Given the description of an element on the screen output the (x, y) to click on. 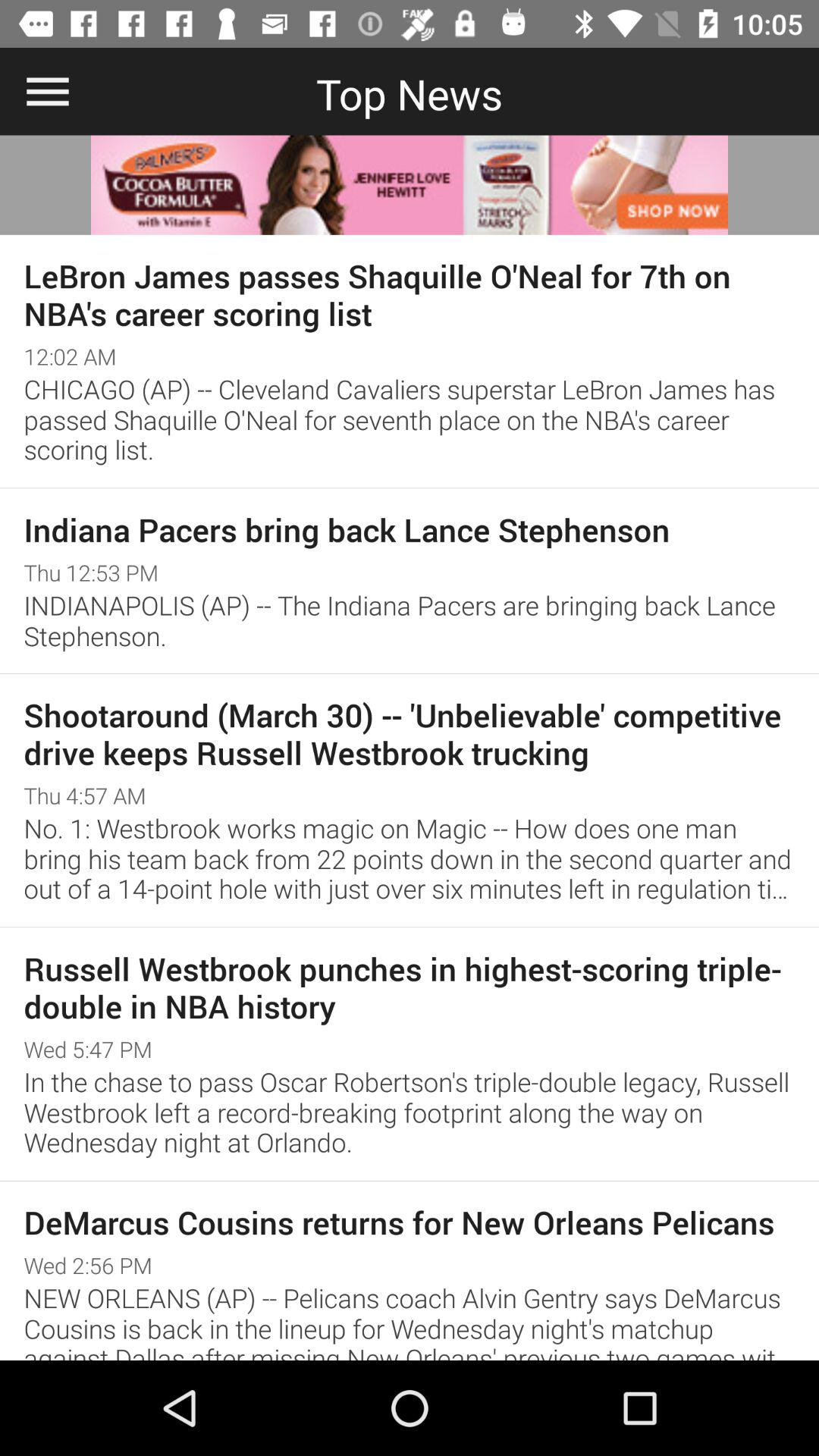
click to view the advertisement (409, 184)
